Given the description of an element on the screen output the (x, y) to click on. 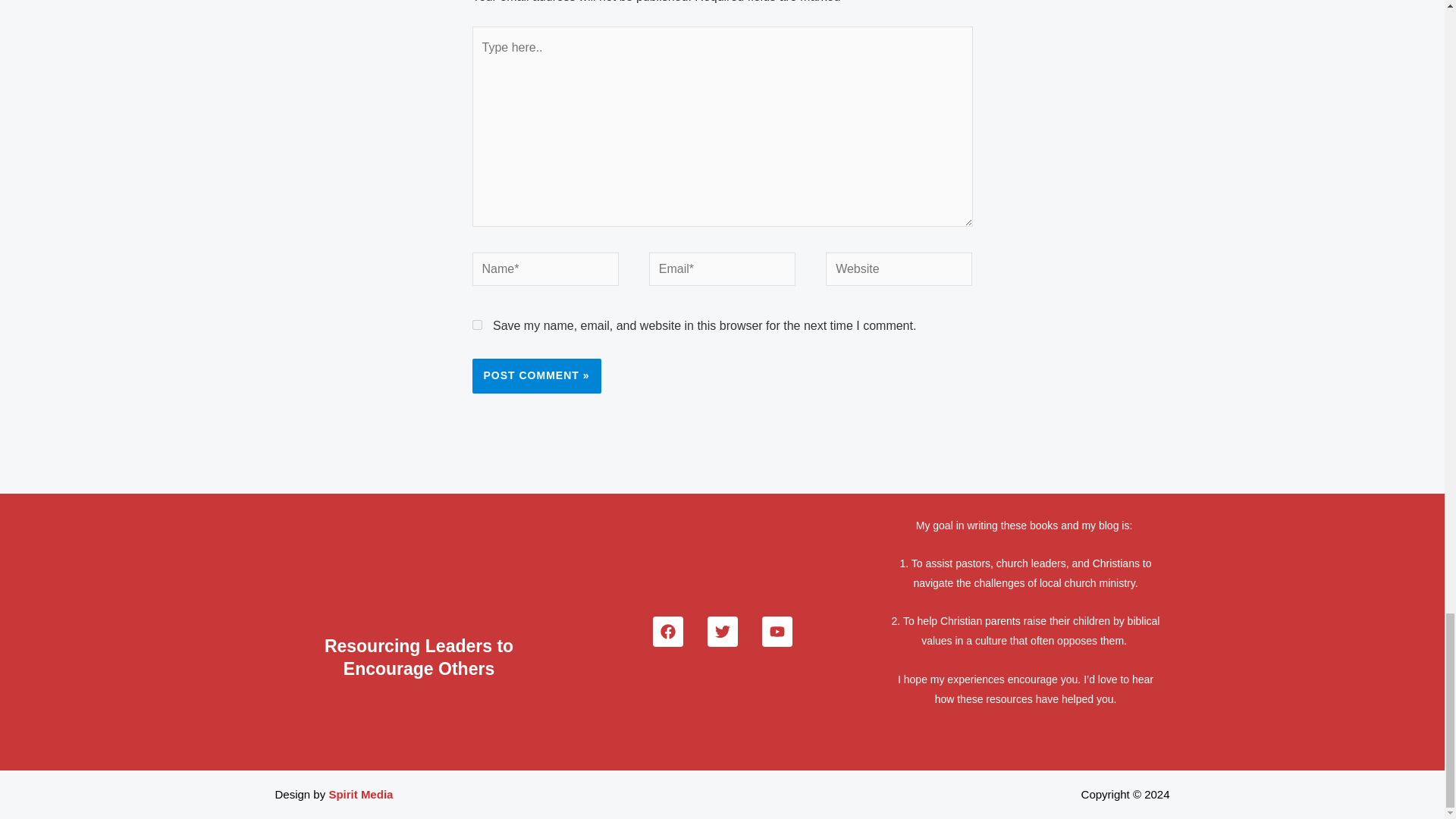
Youtube (776, 631)
yes (476, 325)
Twitter (721, 631)
Facebook (667, 631)
Spirit Media (361, 793)
